Given the description of an element on the screen output the (x, y) to click on. 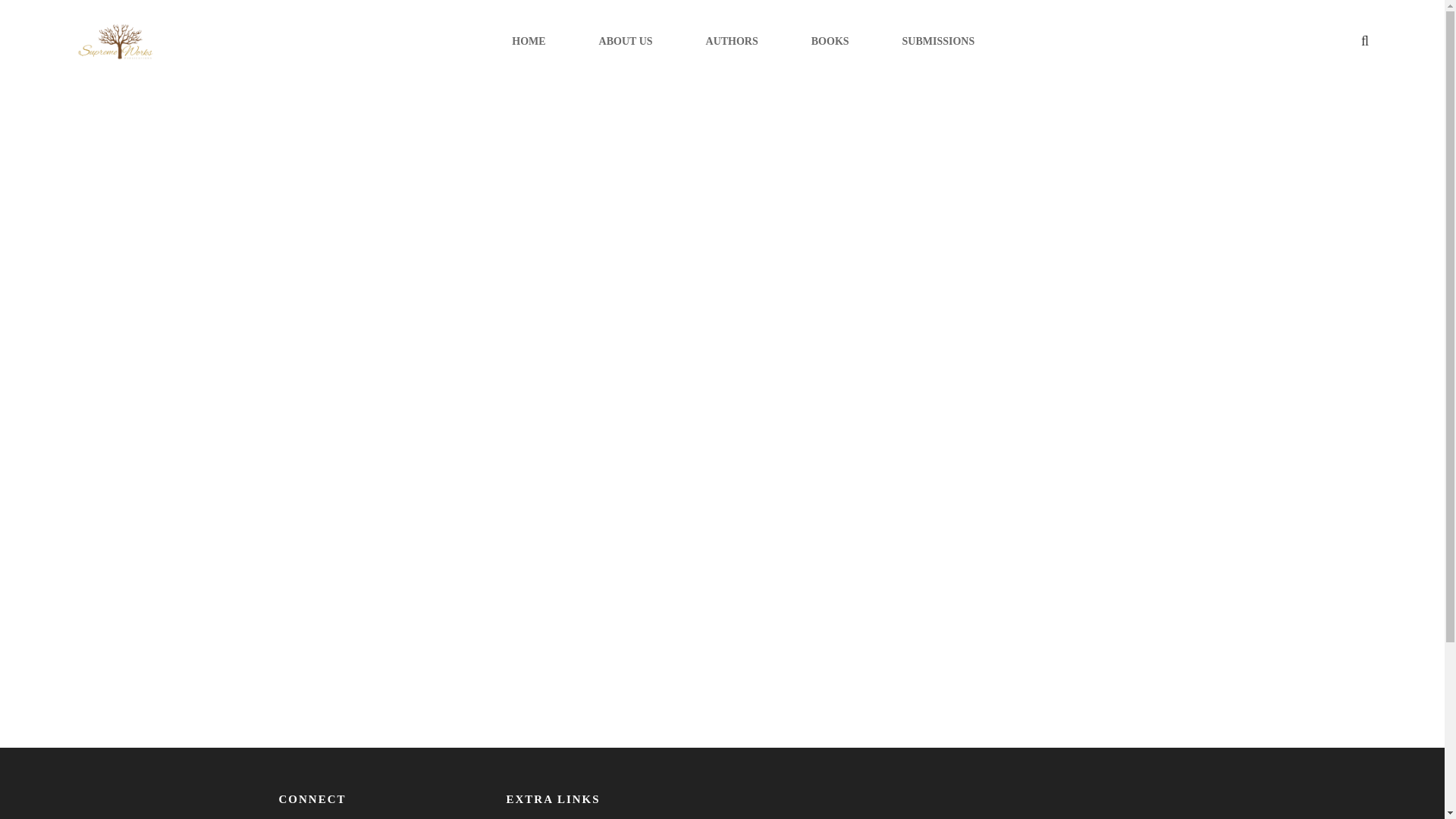
HOME (528, 41)
BOOKS (829, 41)
Supreme Works Publications- (115, 41)
SUBMISSIONS (938, 41)
AUTHORS (732, 41)
ABOUT US (625, 41)
